Given the description of an element on the screen output the (x, y) to click on. 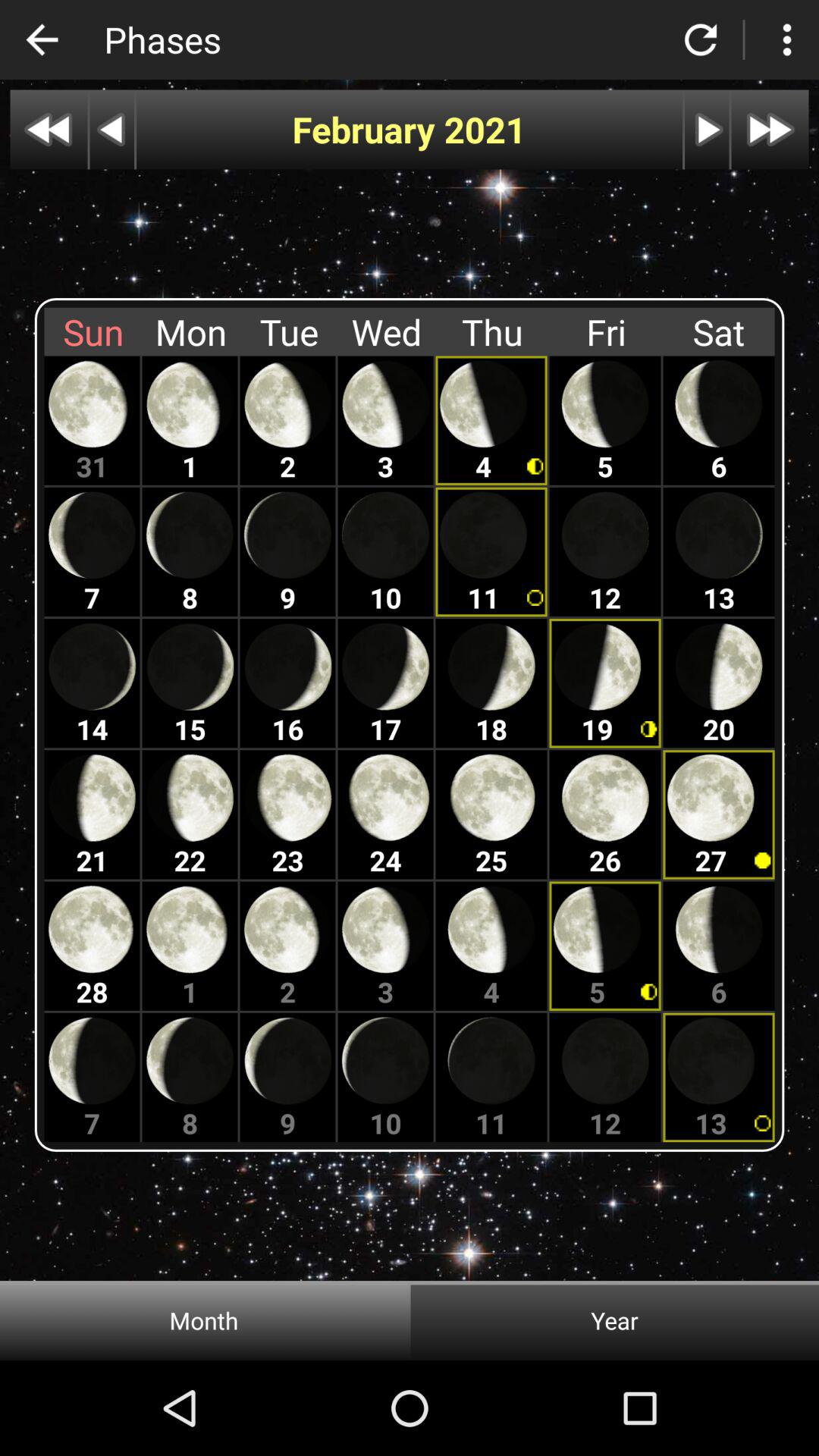
options available (787, 39)
